Given the description of an element on the screen output the (x, y) to click on. 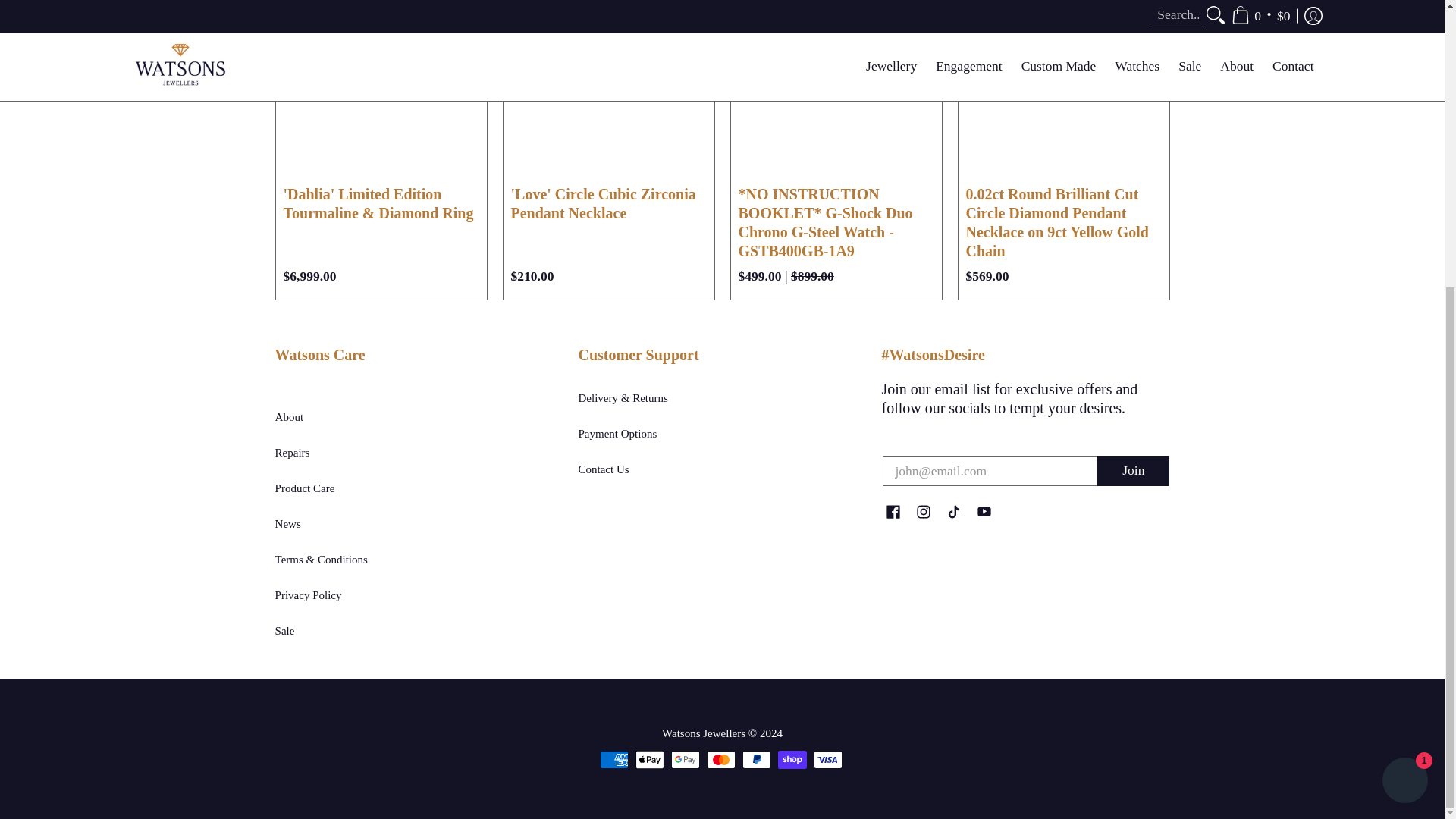
PayPal (755, 760)
Visa (826, 760)
Shop Pay (791, 760)
Join (1133, 470)
Google Pay (683, 760)
Apple Pay (648, 760)
American Express (612, 760)
Mastercard (720, 760)
